Given the description of an element on the screen output the (x, y) to click on. 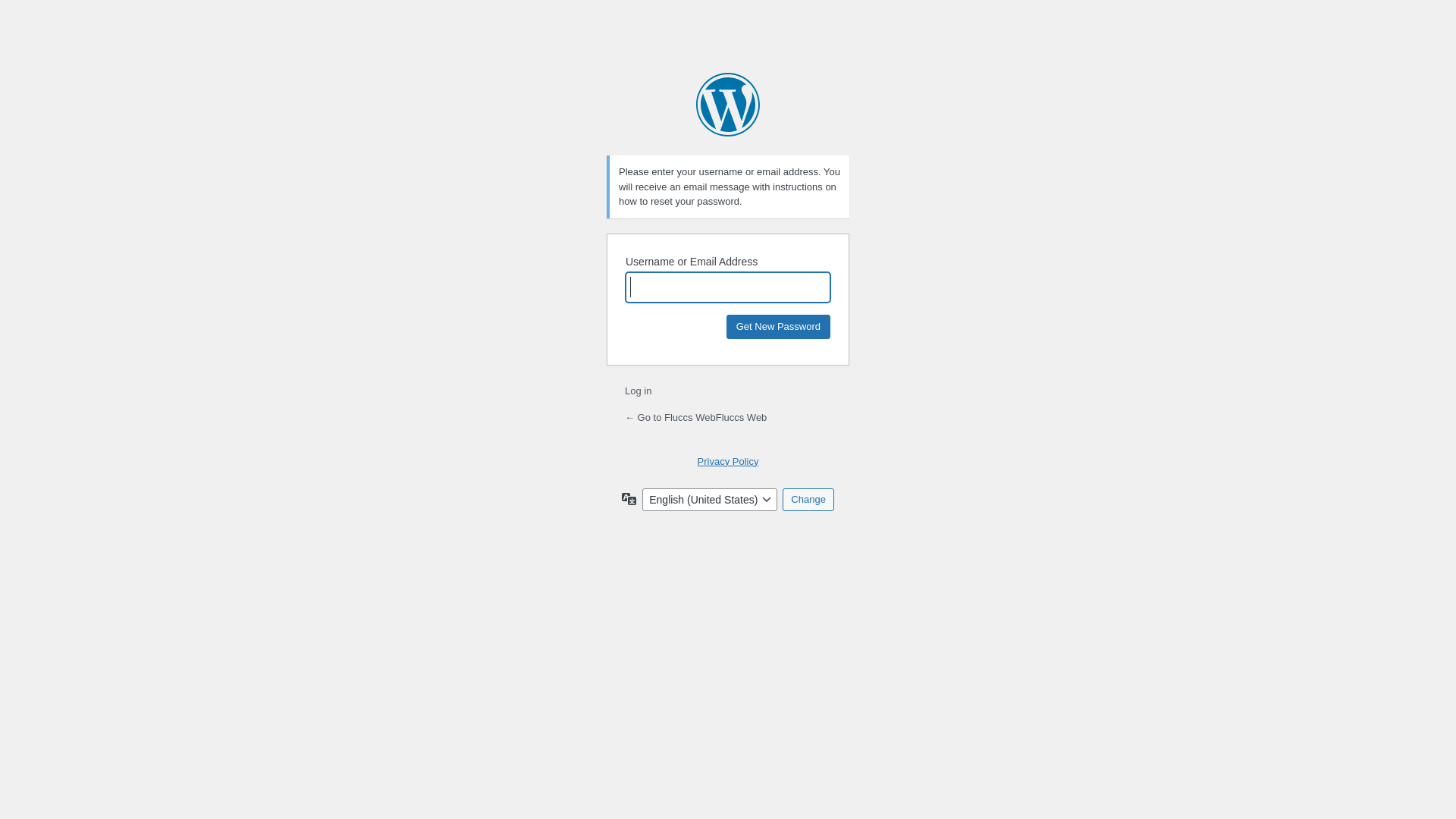
Log in Element type: text (637, 390)
Get New Password Element type: text (778, 325)
Change Element type: text (808, 499)
Privacy Policy Element type: text (728, 460)
Powered by WordPress Element type: text (727, 104)
